Given the description of an element on the screen output the (x, y) to click on. 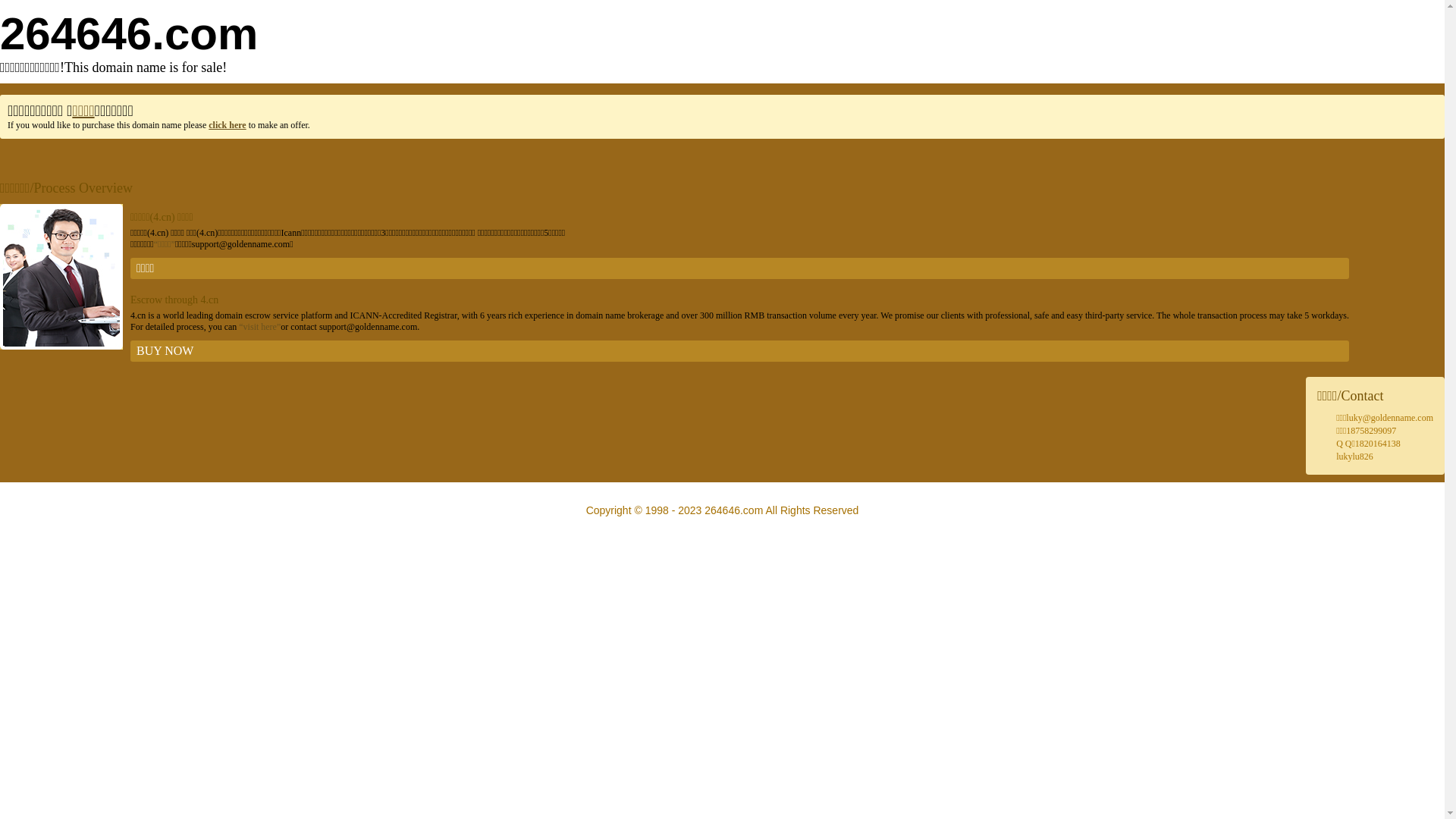
click here Element type: text (226, 124)
BUY NOW Element type: text (739, 350)
